Given the description of an element on the screen output the (x, y) to click on. 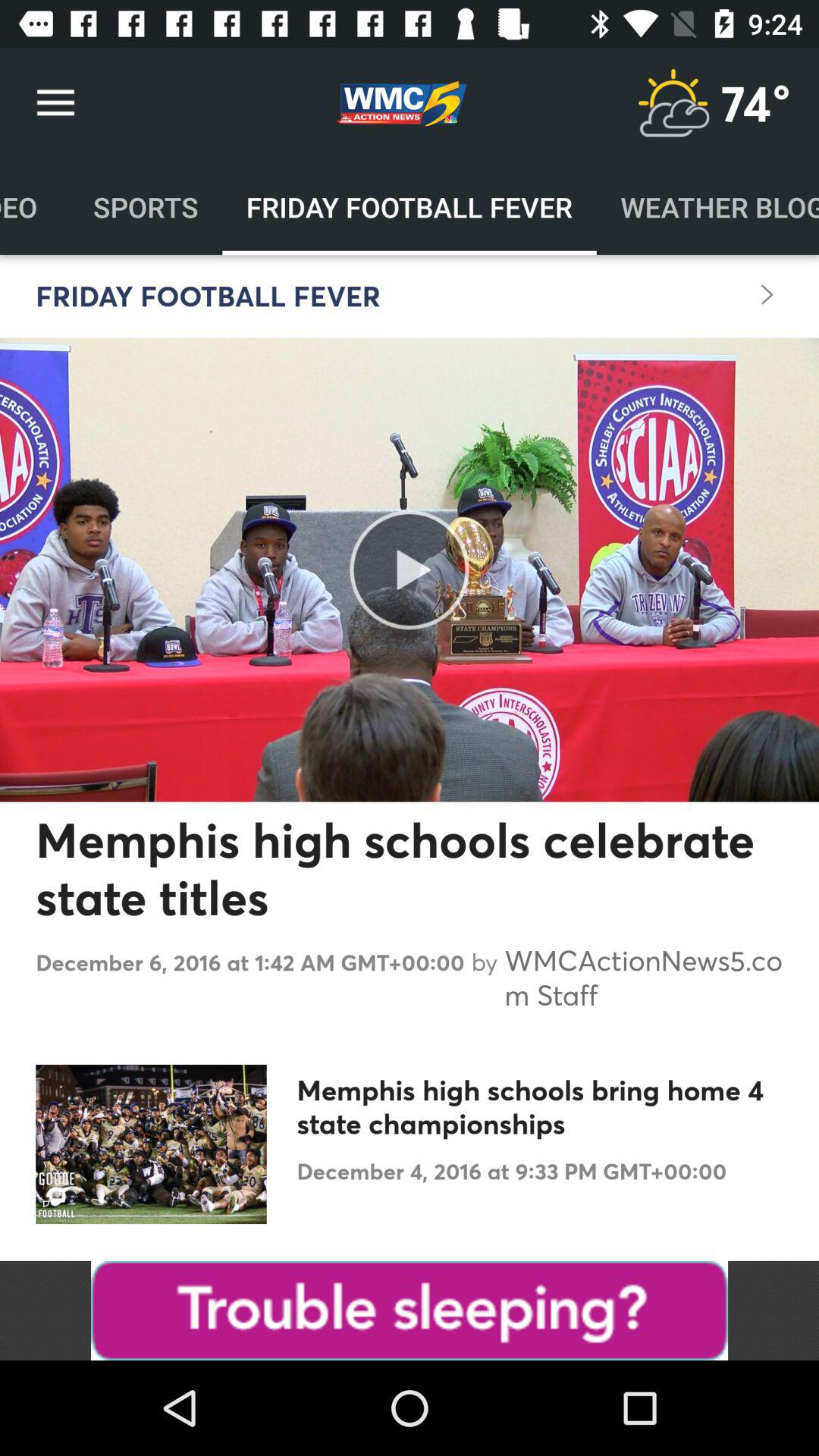
weather details (673, 103)
